Given the description of an element on the screen output the (x, y) to click on. 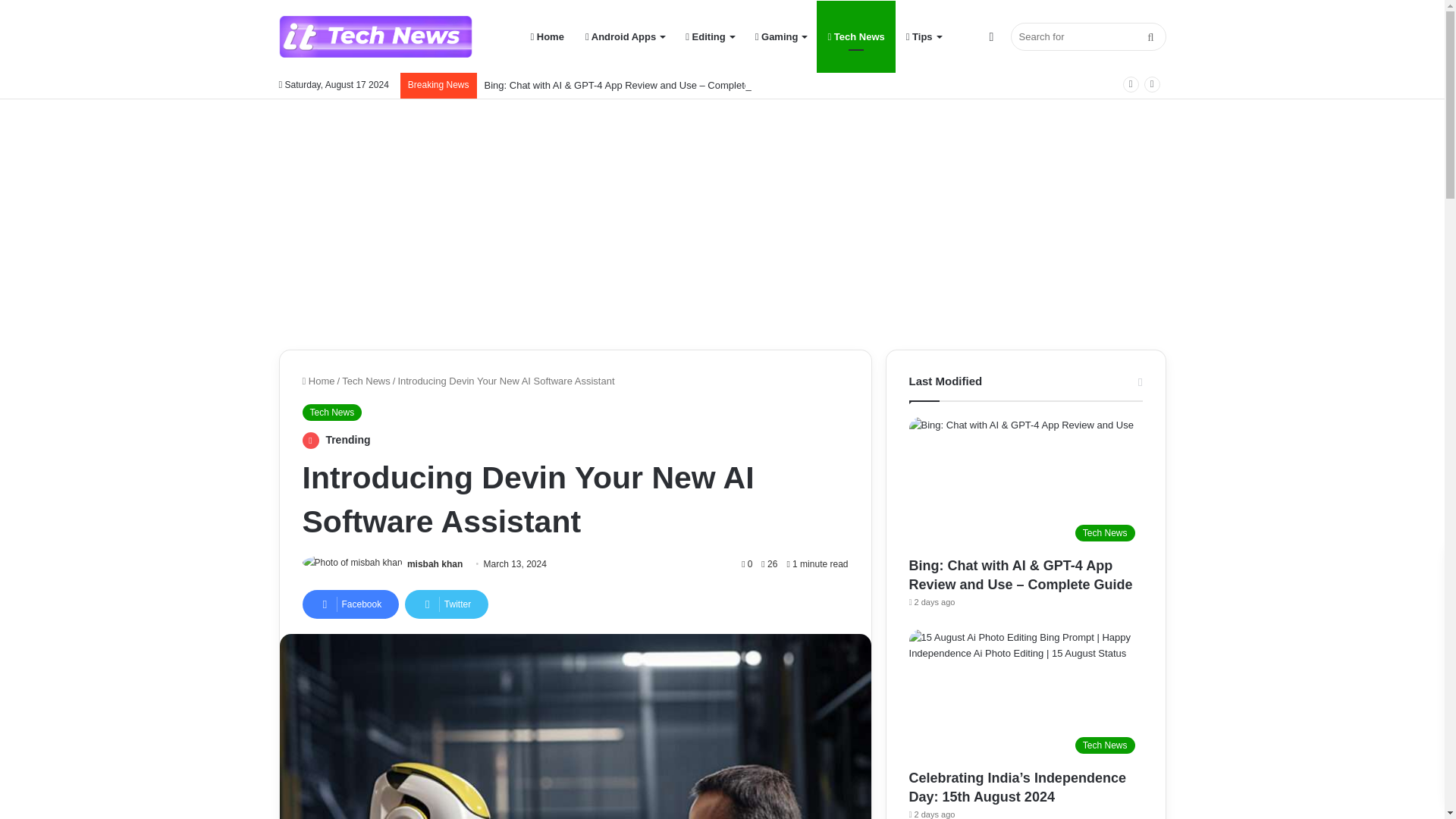
Tech News (331, 412)
iTech (375, 36)
Facebook (349, 604)
Twitter (445, 604)
Twitter (445, 604)
misbah khan (435, 563)
Android Apps (625, 36)
Home (317, 380)
misbah khan (435, 563)
